Given the description of an element on the screen output the (x, y) to click on. 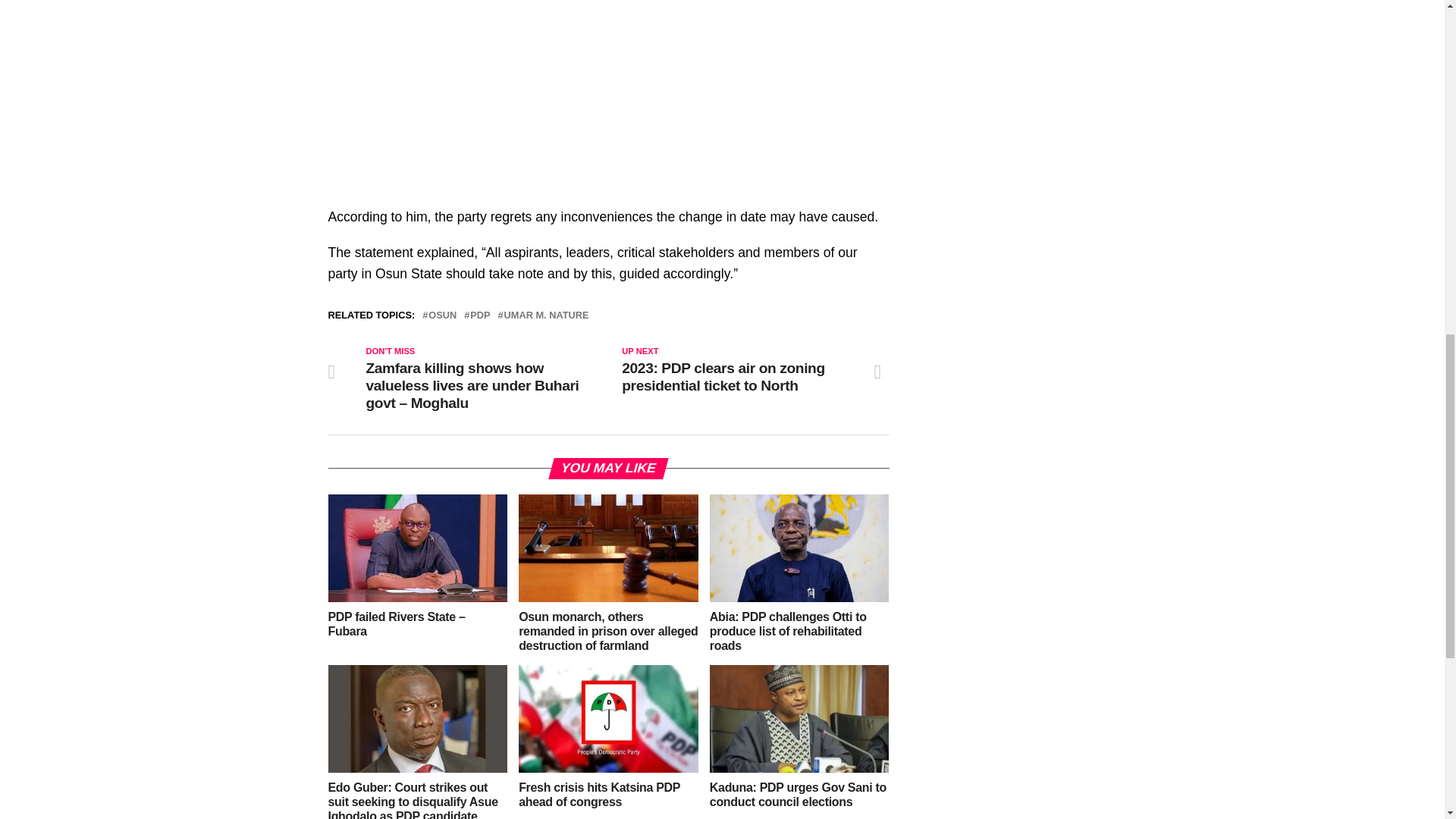
PDP (479, 316)
UMAR M. NATURE (545, 316)
OSUN (442, 316)
